Given the description of an element on the screen output the (x, y) to click on. 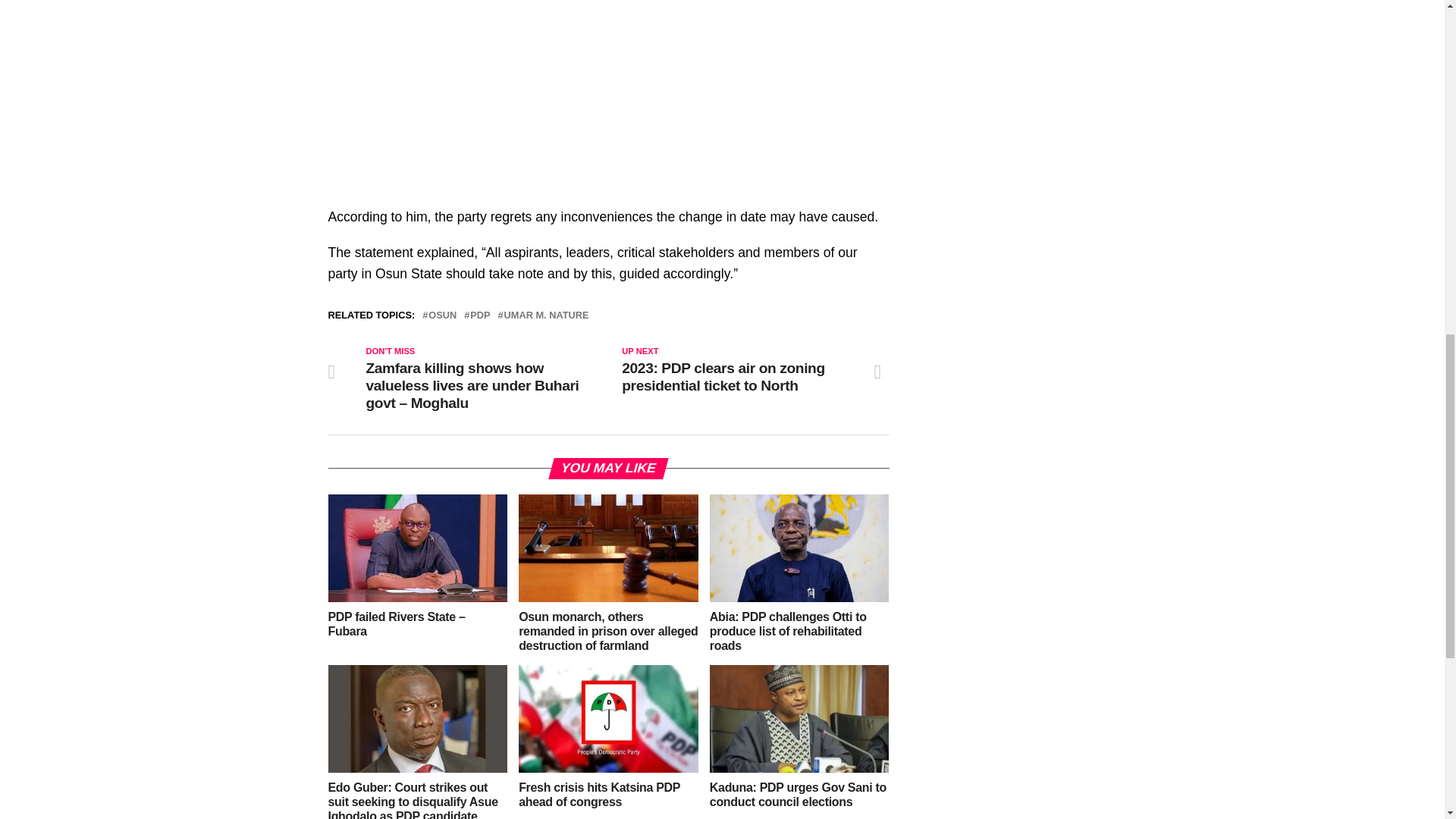
PDP (479, 316)
UMAR M. NATURE (545, 316)
OSUN (442, 316)
